Given the description of an element on the screen output the (x, y) to click on. 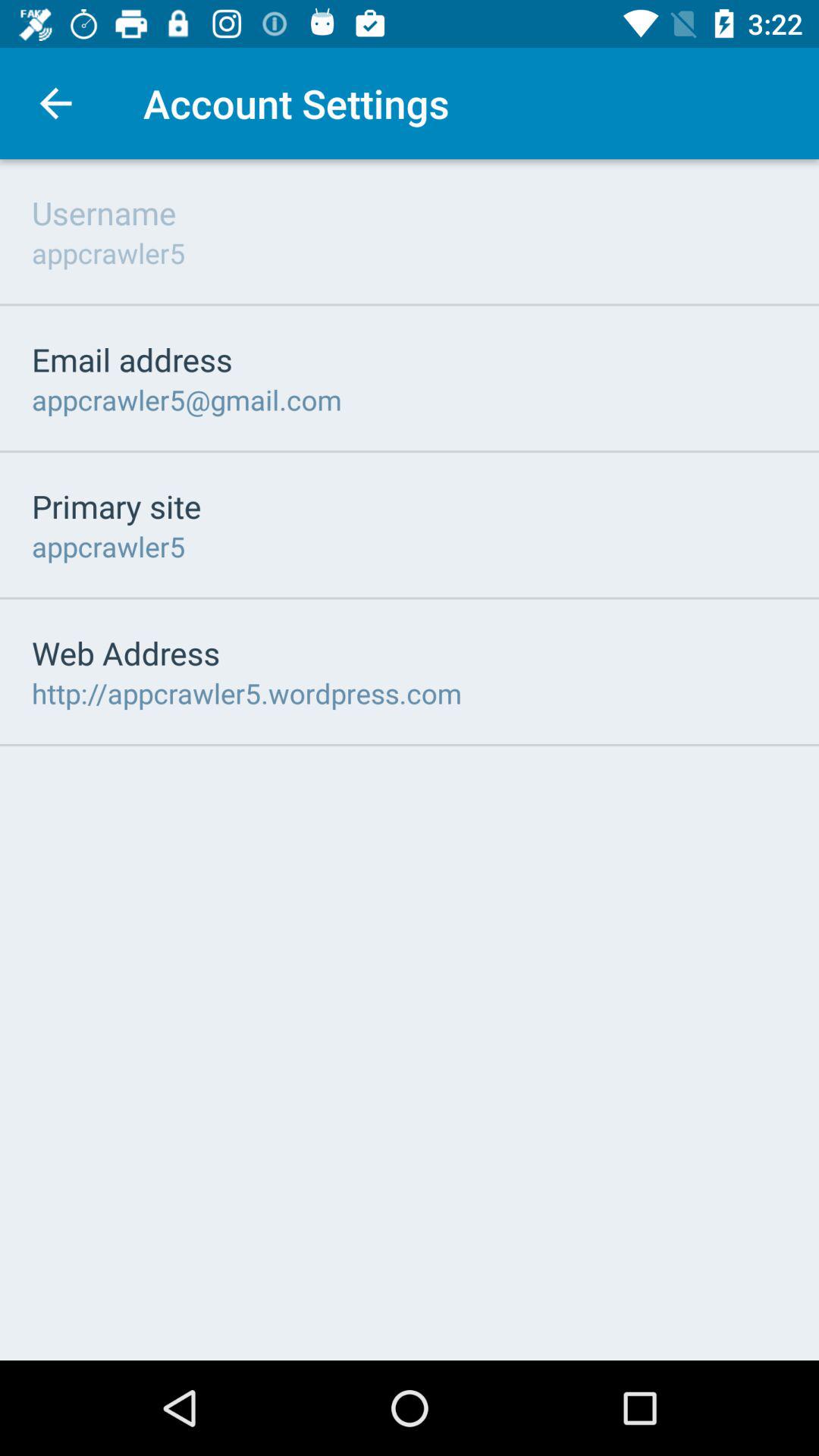
tap icon below appcrawler5 (131, 359)
